Given the description of an element on the screen output the (x, y) to click on. 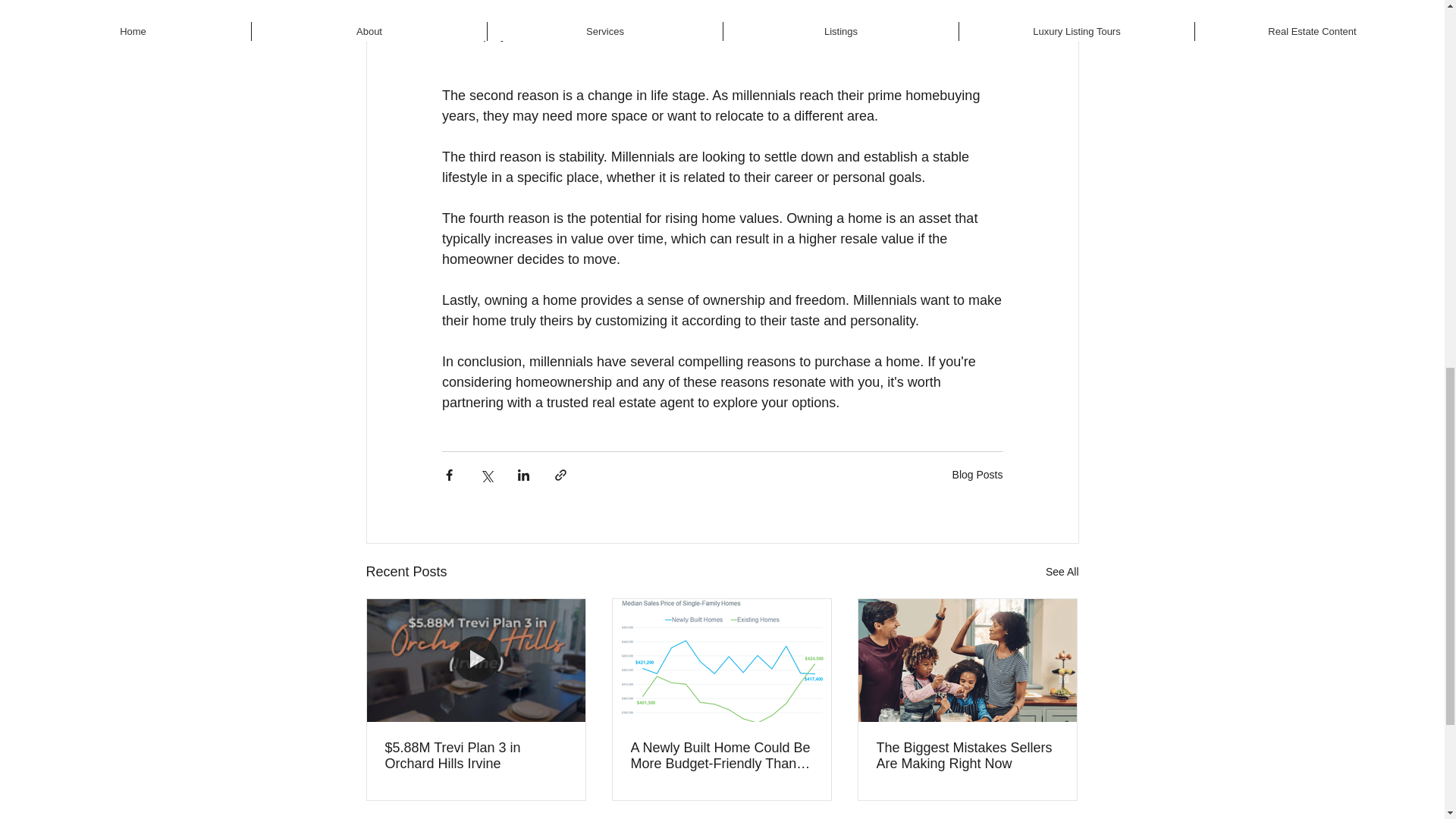
The Biggest Mistakes Sellers Are Making Right Now (967, 756)
See All (1061, 572)
Blog Posts (977, 474)
